Given the description of an element on the screen output the (x, y) to click on. 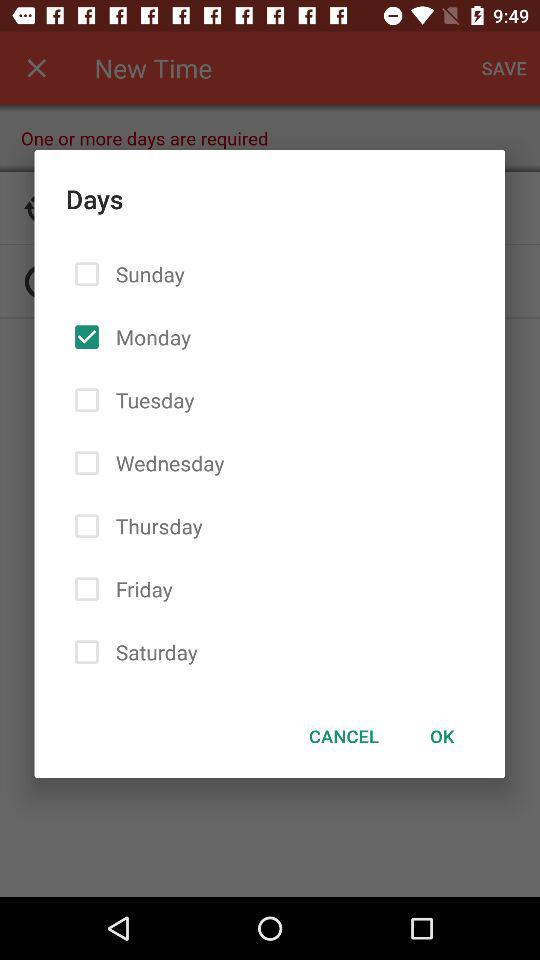
click the icon at the bottom (343, 735)
